Given the description of an element on the screen output the (x, y) to click on. 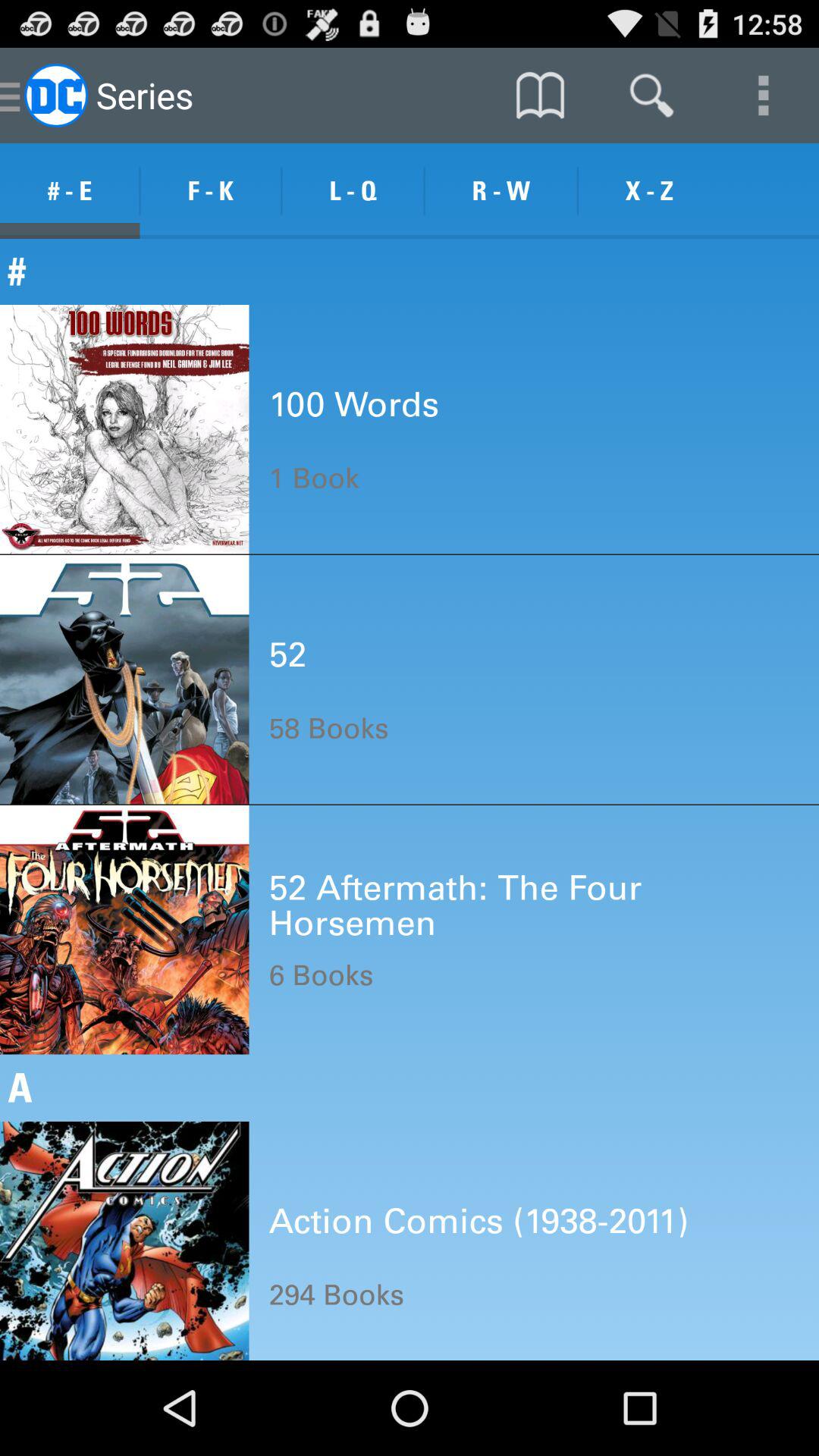
launch the icon below 58 books item (534, 904)
